Given the description of an element on the screen output the (x, y) to click on. 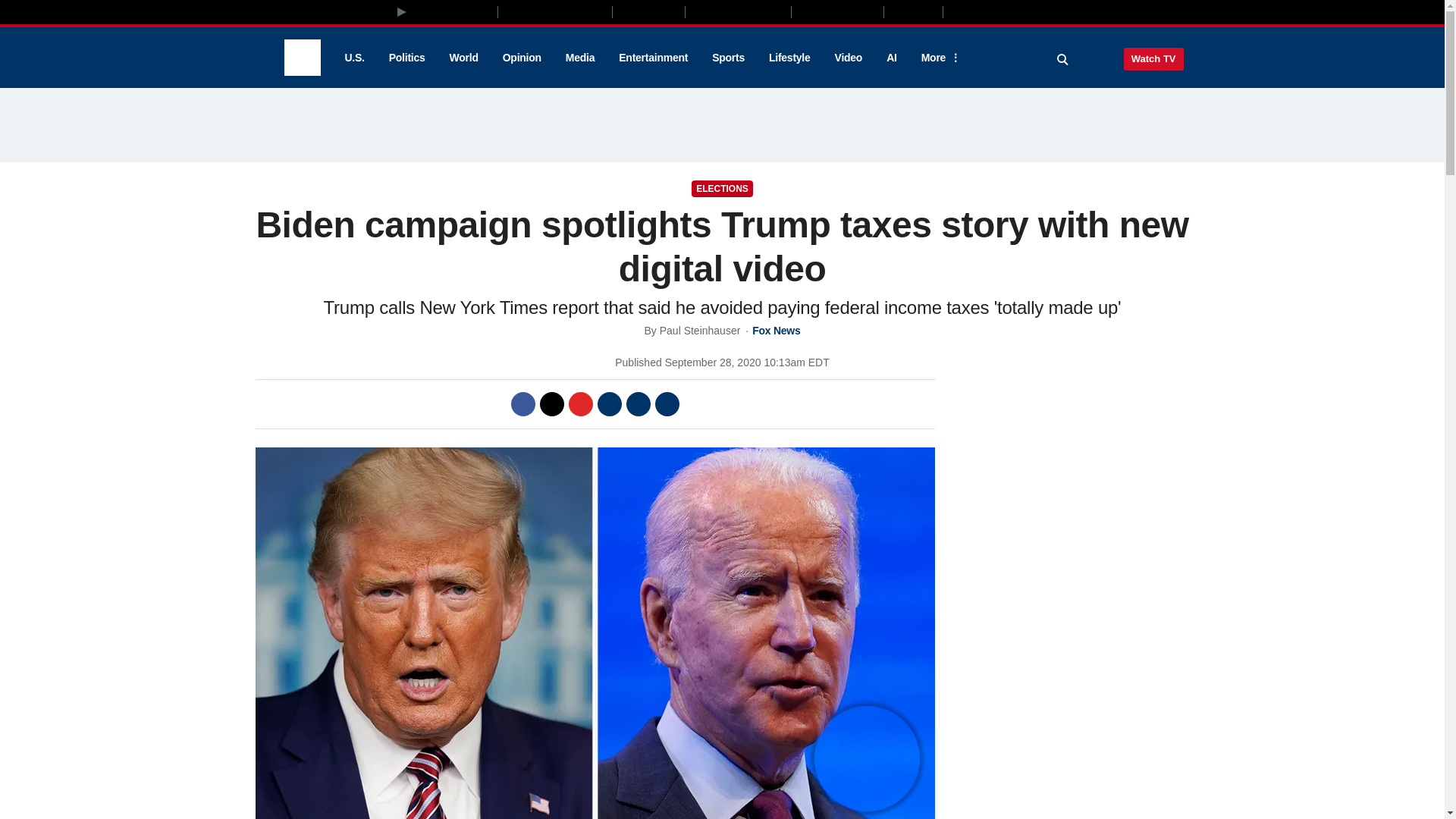
Media (580, 57)
Politics (407, 57)
Fox Weather (836, 11)
Fox Business (554, 11)
Opinion (521, 57)
Fox Nation (648, 11)
Outkick (912, 11)
Fox News Audio (737, 11)
Video (848, 57)
Sports (728, 57)
More (938, 57)
U.S. (353, 57)
World (464, 57)
Watch TV (1153, 58)
AI (891, 57)
